Given the description of an element on the screen output the (x, y) to click on. 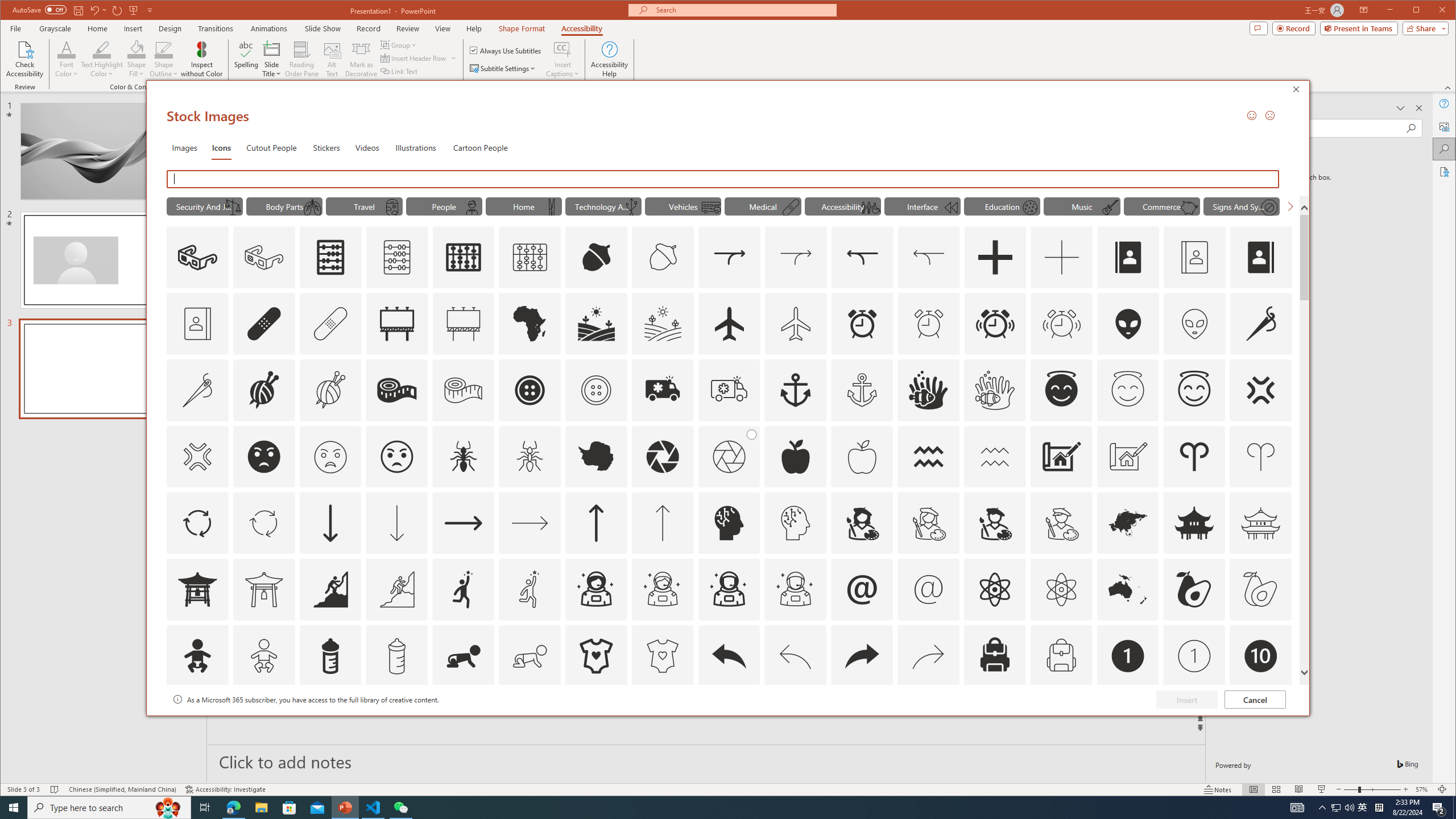
AutomationID: Icons_Baby_M (263, 655)
AutomationID: Icons_AlterationsTailoring1 (263, 389)
AutomationID: Icons_Badge4 (529, 721)
AutomationID: Icons_Back_LTR_M (795, 655)
AutomationID: 4105 (1297, 807)
